Given the description of an element on the screen output the (x, y) to click on. 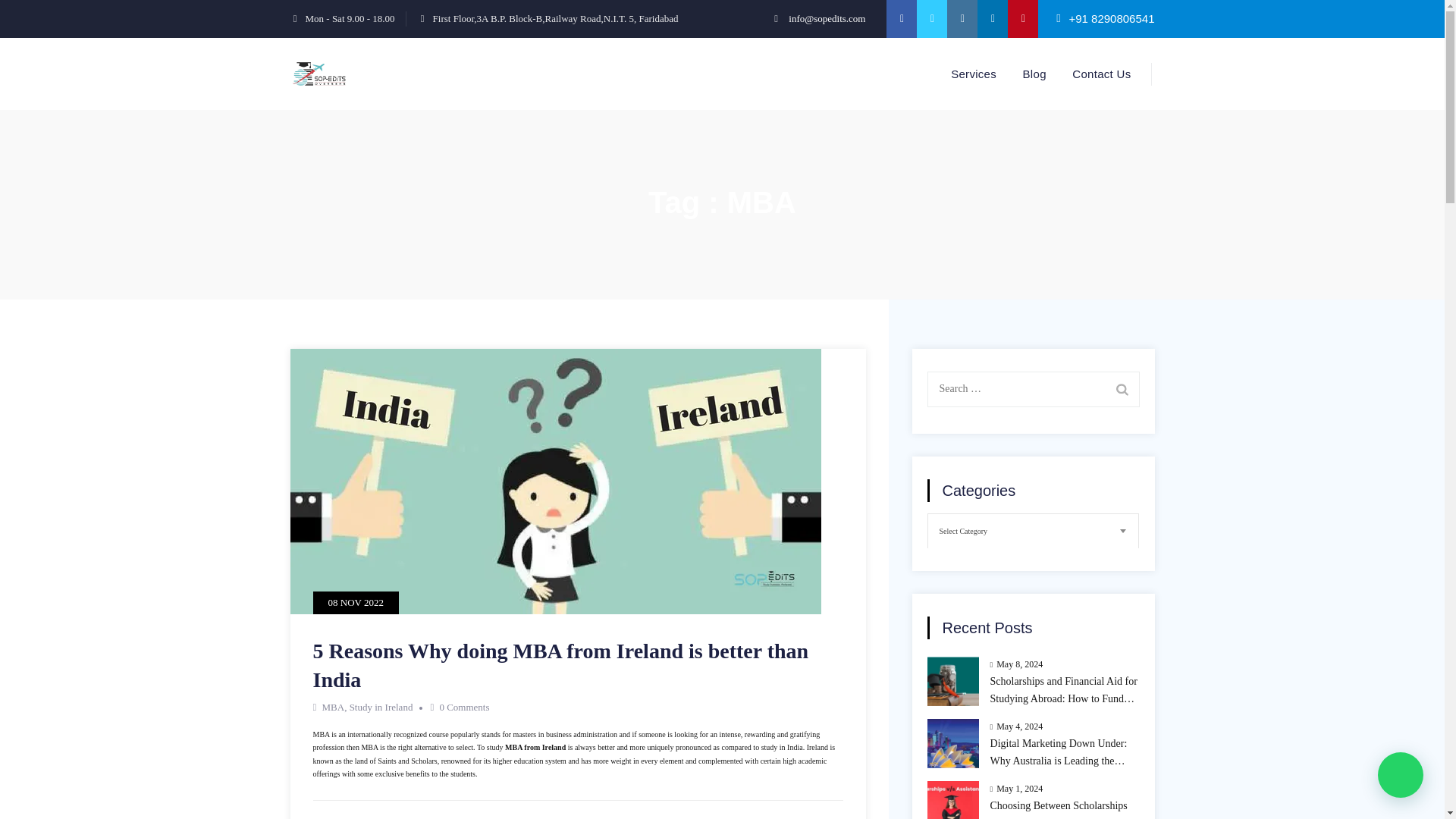
0 Comments (464, 706)
MBA (332, 706)
Search (1120, 388)
5 Reasons Why doing MBA from Ireland is better than India (560, 665)
Study in Ireland (381, 706)
Select Category (1033, 530)
MBA from Ireland (536, 746)
Services (974, 73)
Contact Us (1100, 73)
Search (1120, 388)
